Given the description of an element on the screen output the (x, y) to click on. 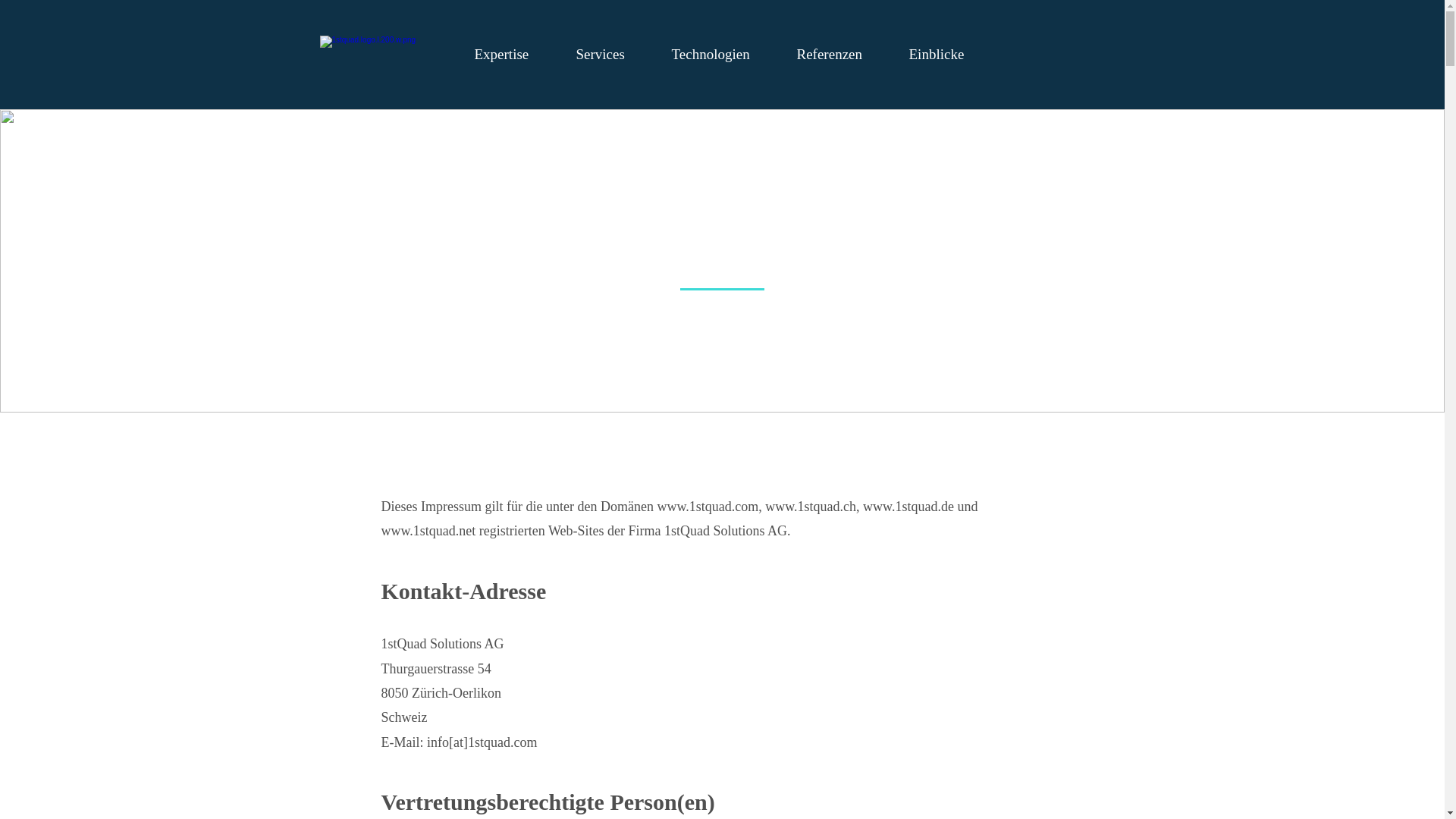
1stquad.logo.hl.100.png Element type: hover (371, 50)
www.1stquad.ch Element type: text (810, 506)
Referenzen Element type: text (841, 54)
www.1stquad.com Element type: text (707, 506)
www.1stquad.de Element type: text (907, 506)
www.1stquad.net Element type: text (427, 530)
